Given the description of an element on the screen output the (x, y) to click on. 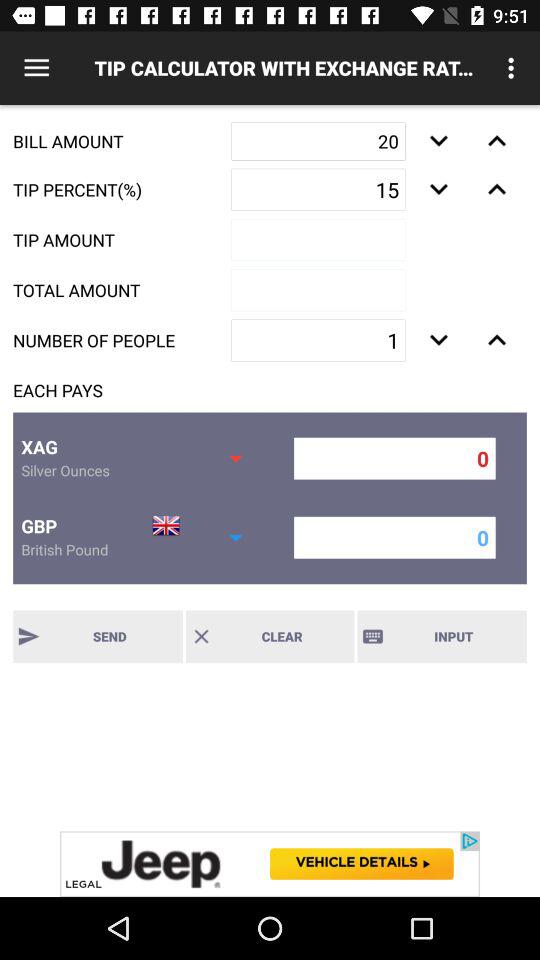
add quantity (496, 141)
